Given the description of an element on the screen output the (x, y) to click on. 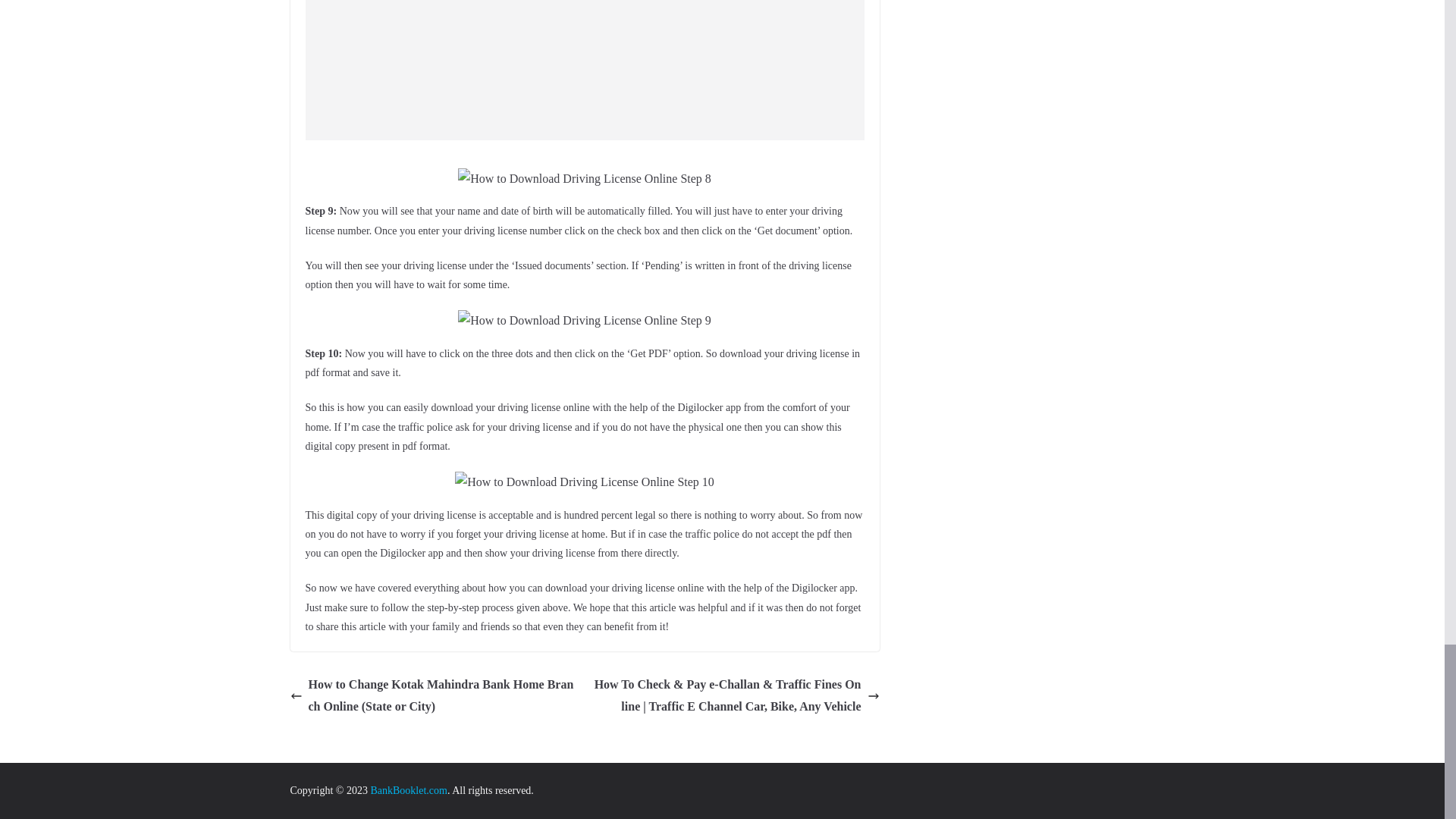
BankBooklet.com (407, 790)
BankBooklet.com (407, 790)
